Given the description of an element on the screen output the (x, y) to click on. 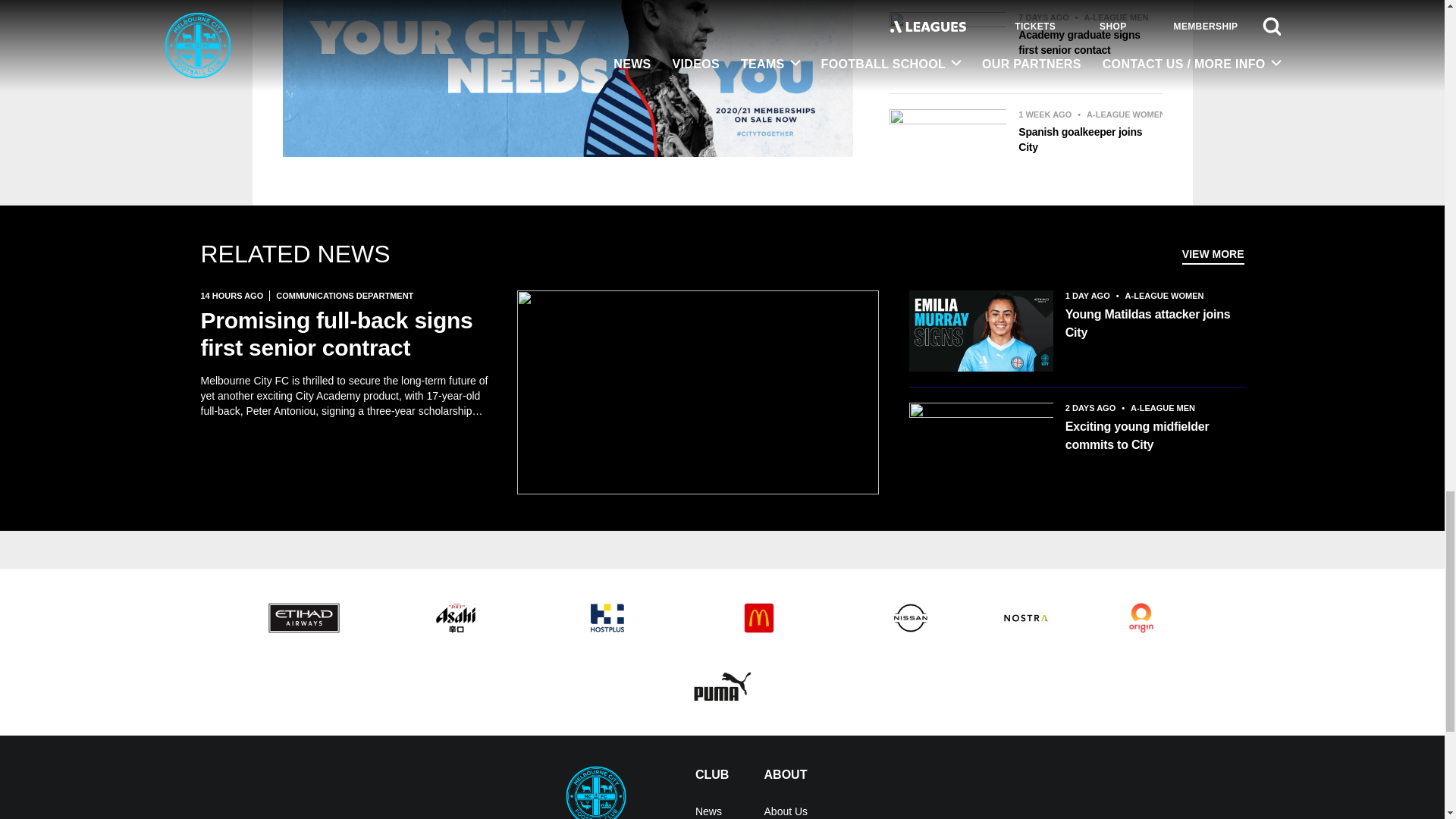
Nostra (1025, 617)
Nissan (909, 617)
Etihad Airways (303, 617)
Asahi Super Dry (454, 617)
PUMA (722, 686)
Hostplus (606, 617)
Origin (1140, 617)
